Given the description of an element on the screen output the (x, y) to click on. 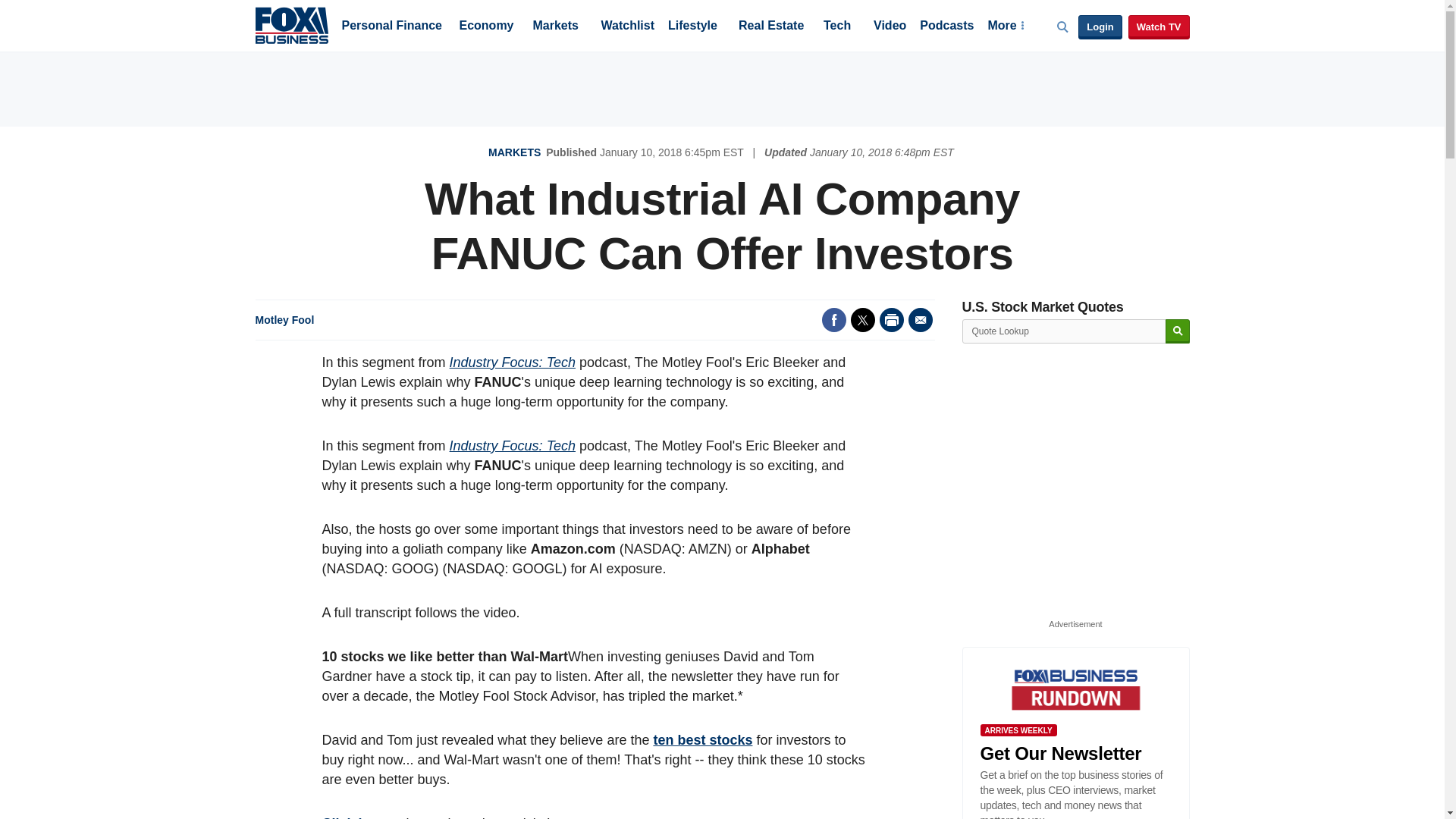
Economy (486, 27)
Search (1176, 331)
Watchlist (626, 27)
More (1005, 27)
Video (889, 27)
Markets (555, 27)
Lifestyle (692, 27)
Podcasts (947, 27)
Fox Business (290, 24)
Personal Finance (391, 27)
